Given the description of an element on the screen output the (x, y) to click on. 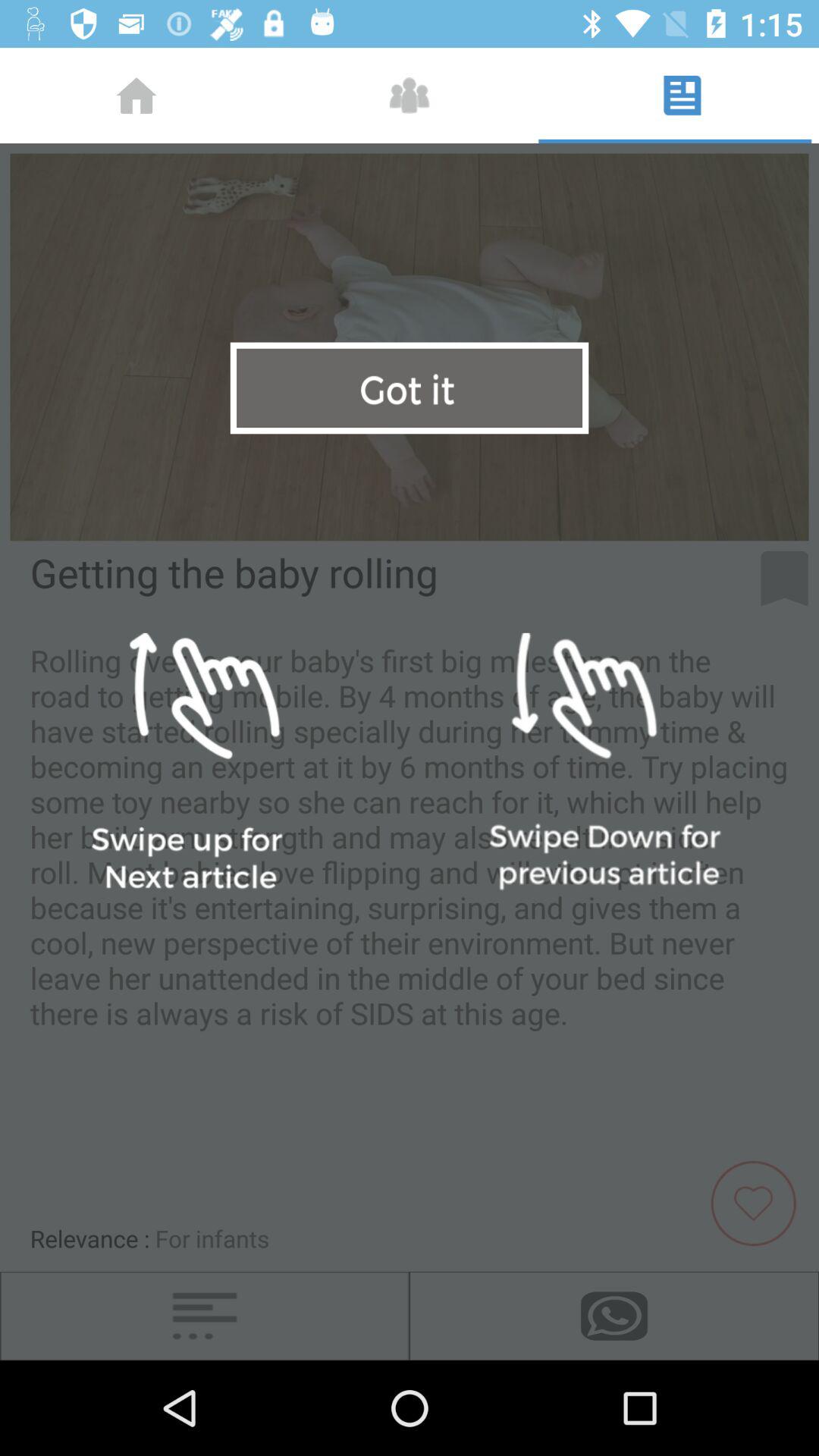
bookmark the article (784, 578)
